Given the description of an element on the screen output the (x, y) to click on. 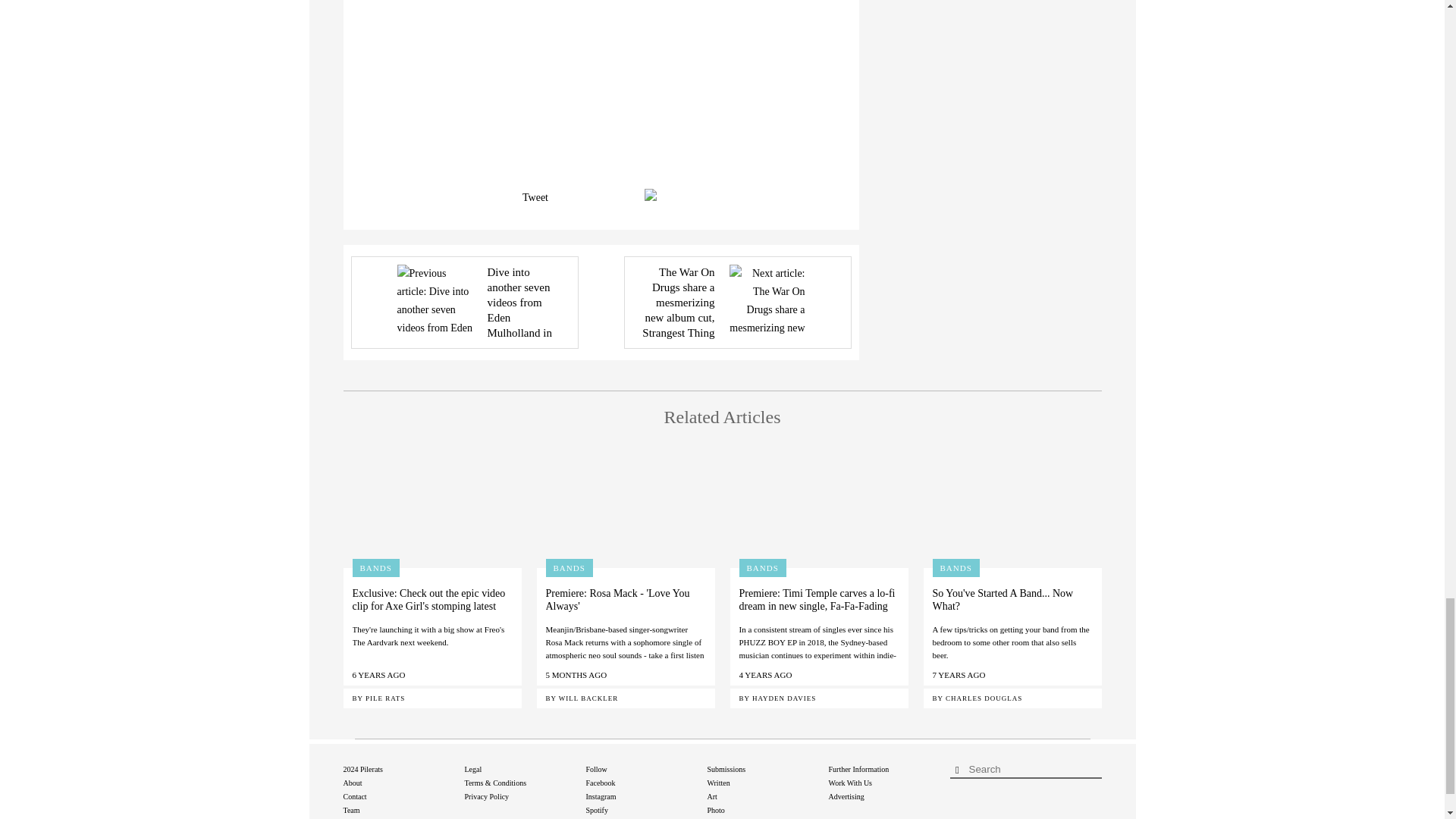
Share via email (654, 194)
